Given the description of an element on the screen output the (x, y) to click on. 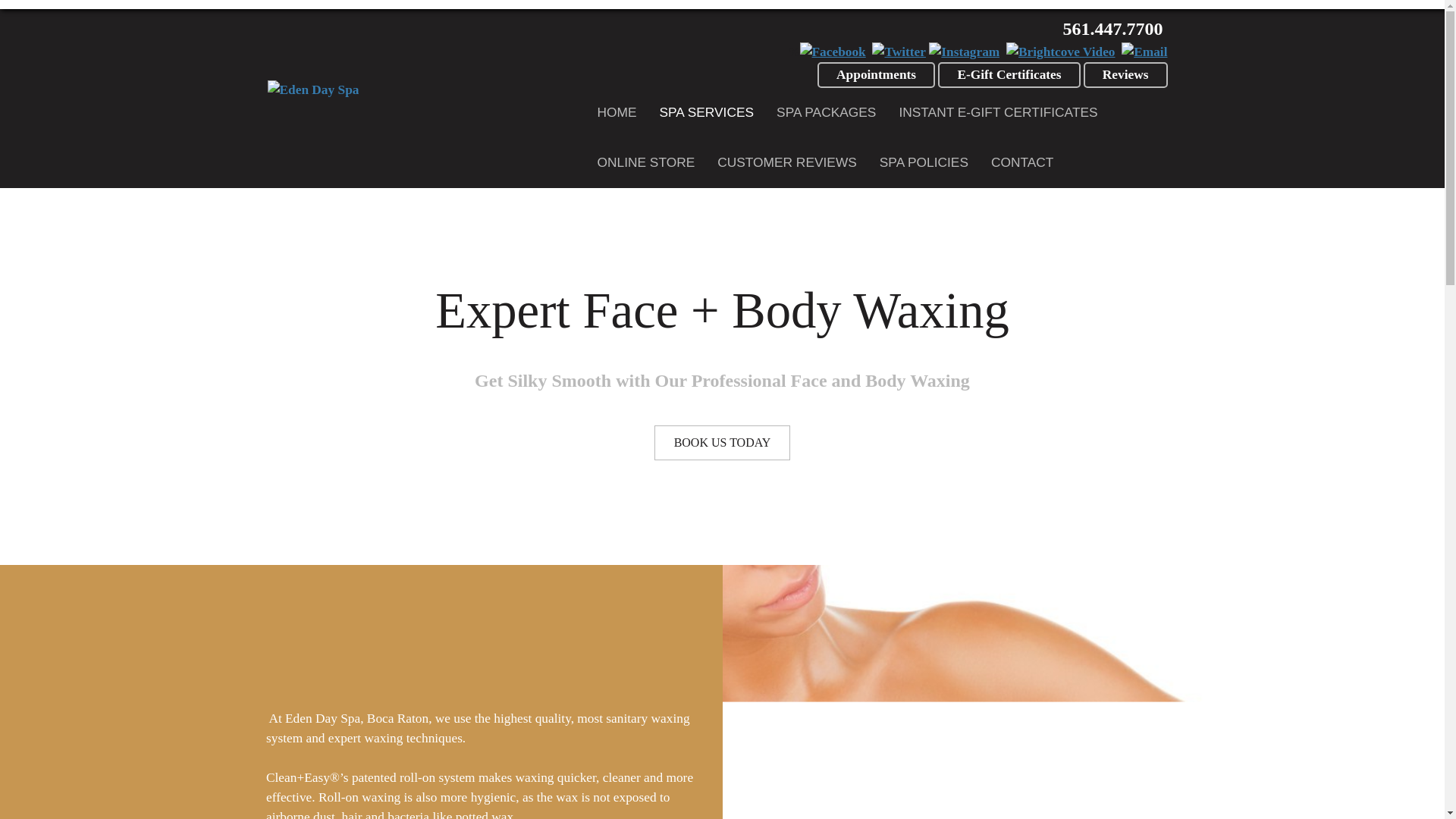
BOOK US TODAY (721, 442)
Facebook (832, 52)
Email (1144, 52)
CUSTOMER REVIEWS (787, 163)
Twitter (899, 52)
Brightcove Video (1060, 52)
HOME (617, 112)
SPA PACKAGES (825, 112)
SPA POLICIES (923, 163)
CONTACT (1022, 163)
